Given the description of an element on the screen output the (x, y) to click on. 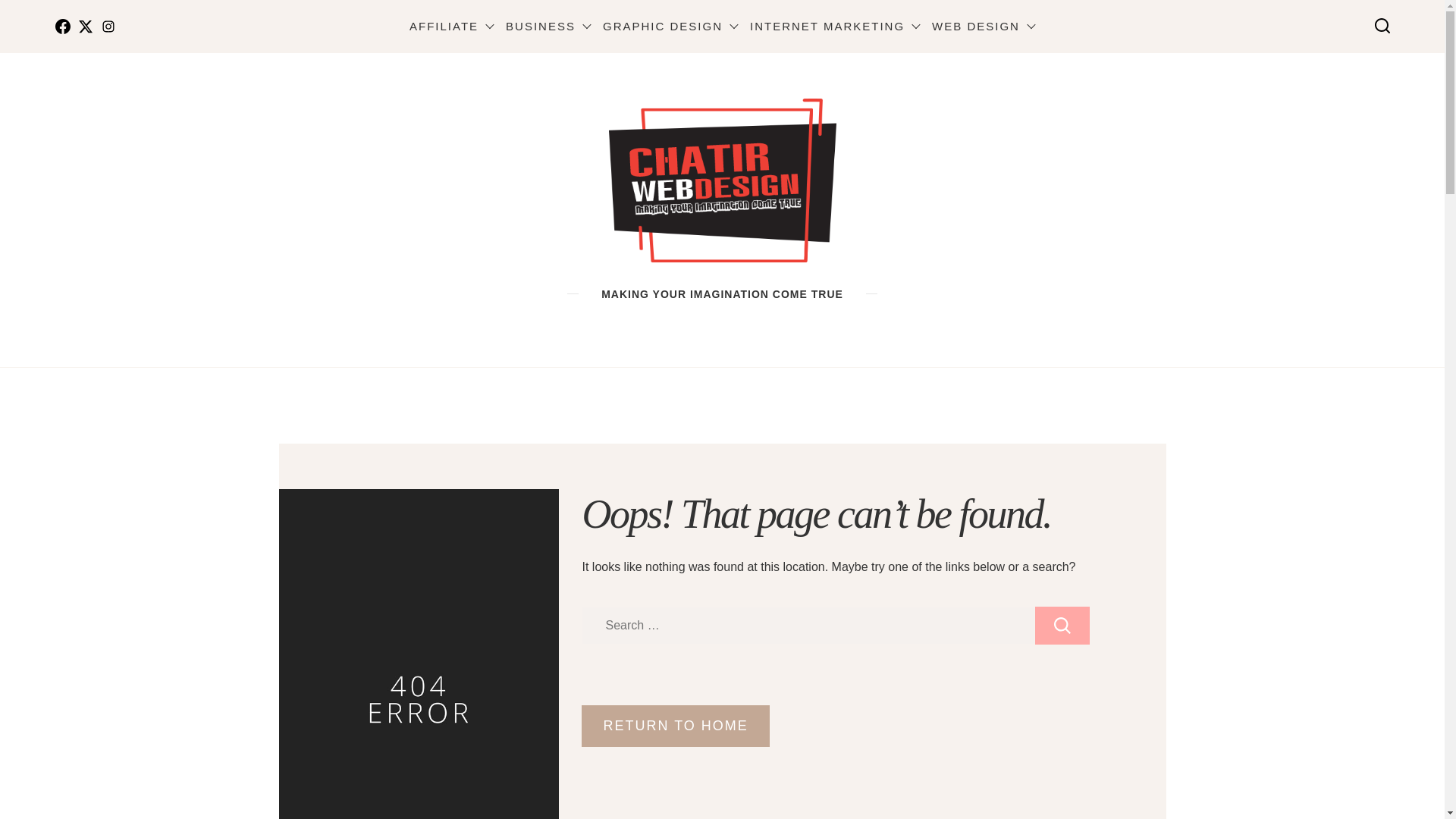
GRAPHIC DESIGN (670, 26)
AFFILIATE (451, 26)
WEB DESIGN (983, 26)
BUSINESS (548, 26)
INTERNET MARKETING (834, 26)
Search (1062, 625)
Search (1062, 625)
